Given the description of an element on the screen output the (x, y) to click on. 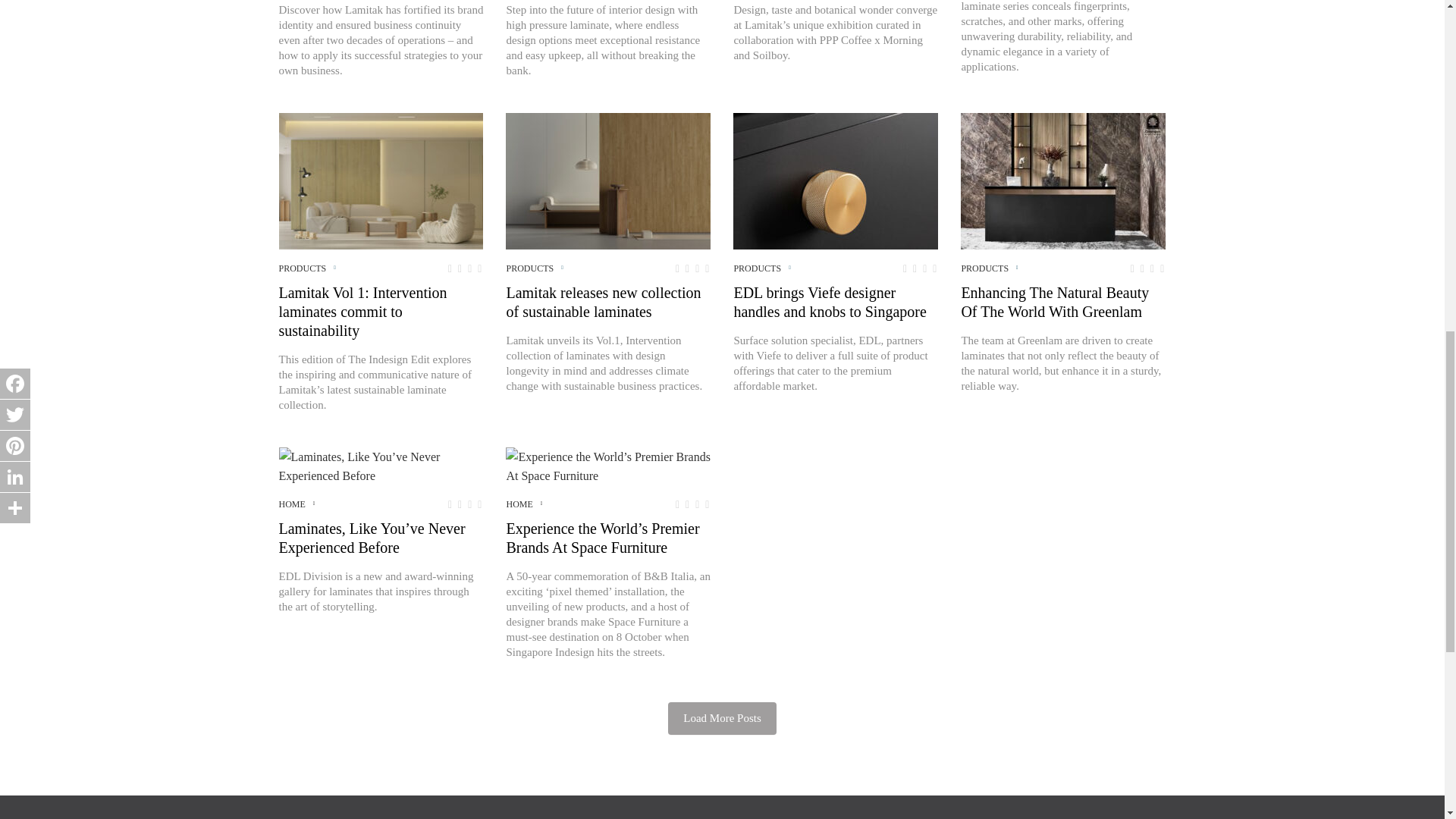
EDL brings Viefe designer handles and knobs to Singapore (835, 181)
Enhancing The Natural Beauty Of The World With Greenlam (1063, 181)
Lamitak releases new collection of sustainable laminates (607, 181)
